Given the description of an element on the screen output the (x, y) to click on. 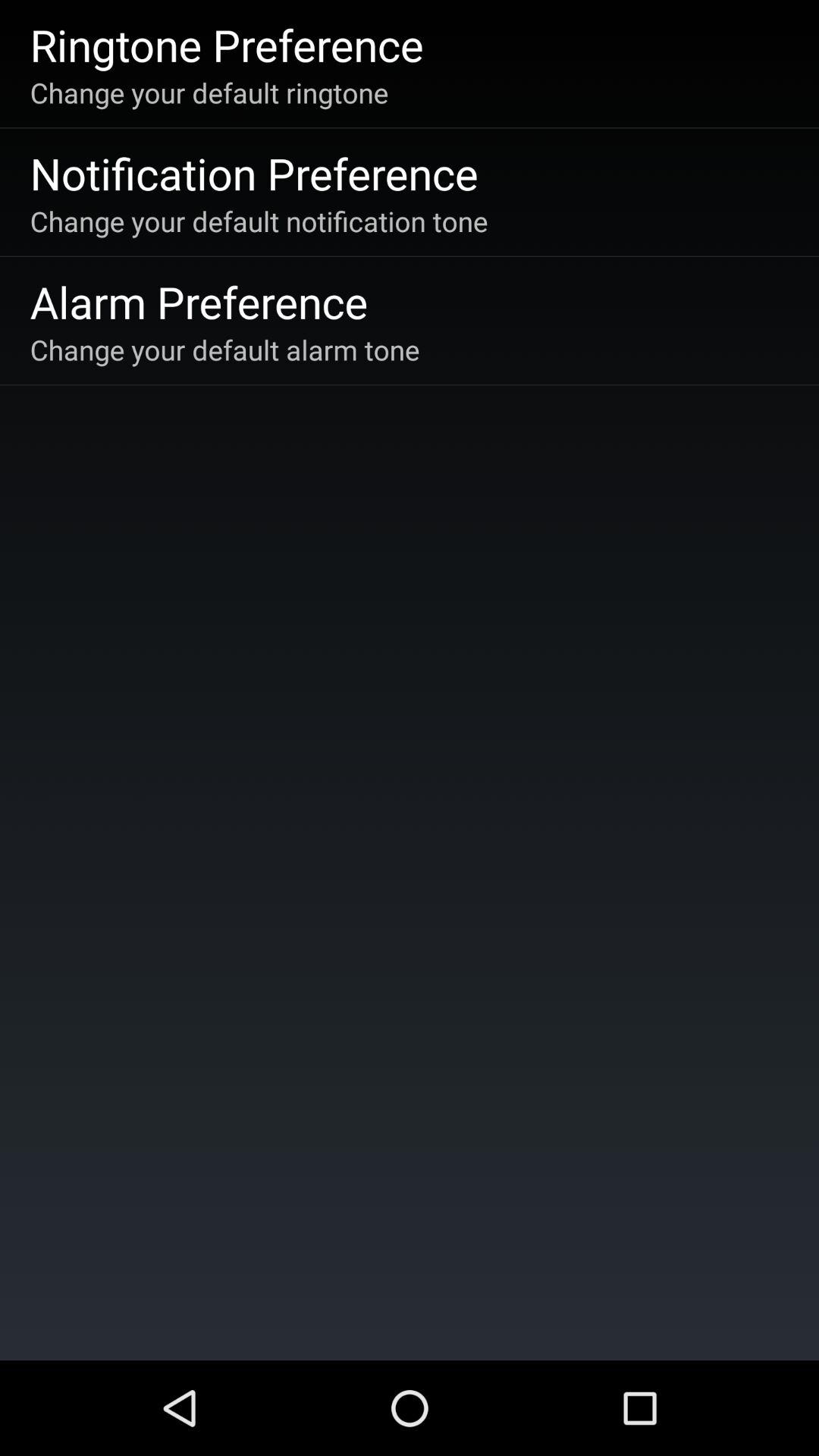
choose ringtone preference item (226, 44)
